Given the description of an element on the screen output the (x, y) to click on. 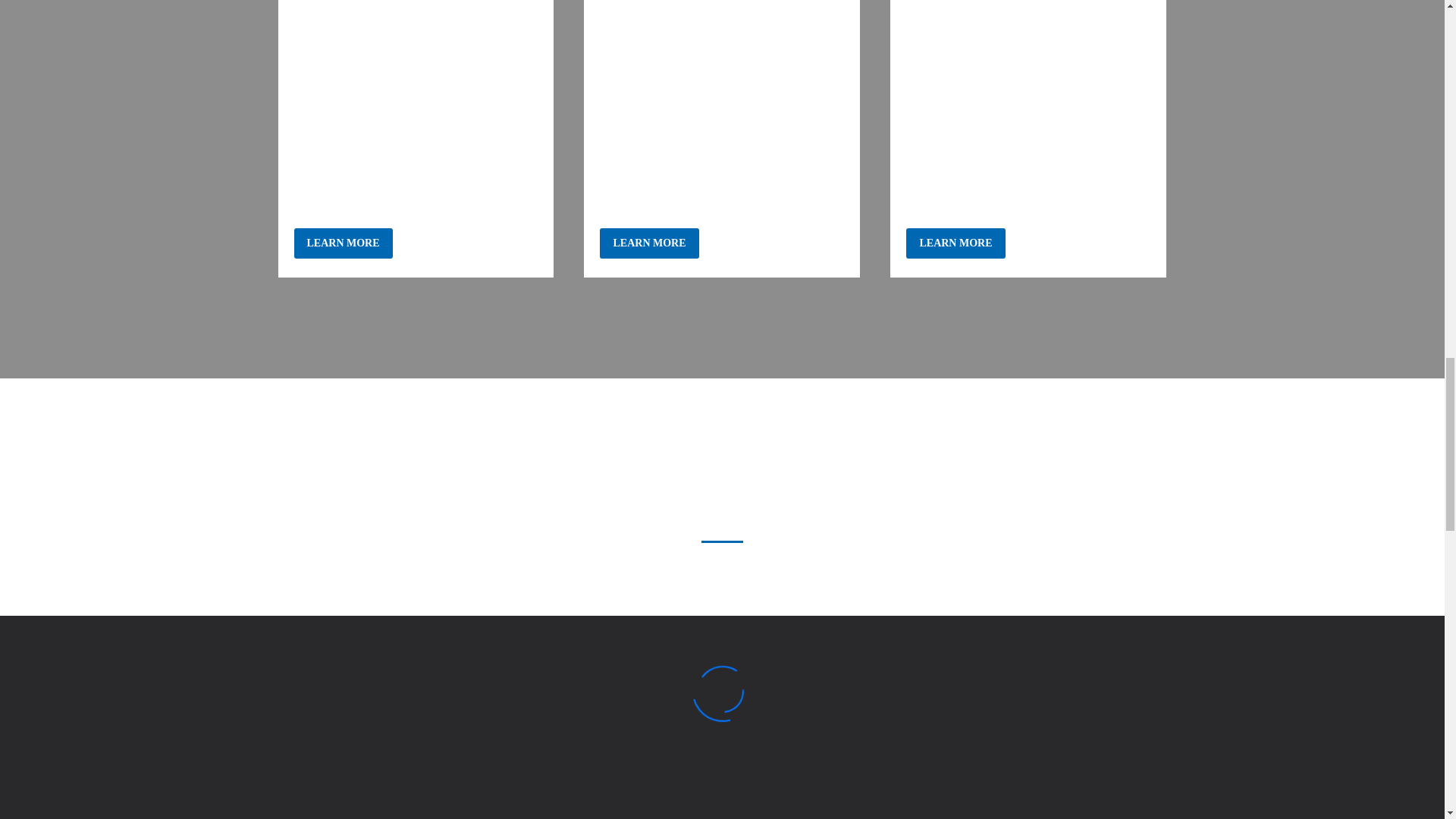
About Us (343, 243)
transmission (416, 58)
About Us (648, 243)
About Us (954, 243)
LEARN MORE (954, 243)
LEARN MORE (648, 243)
LEARN MORE (343, 243)
substation (1027, 58)
distribution (721, 58)
